Given the description of an element on the screen output the (x, y) to click on. 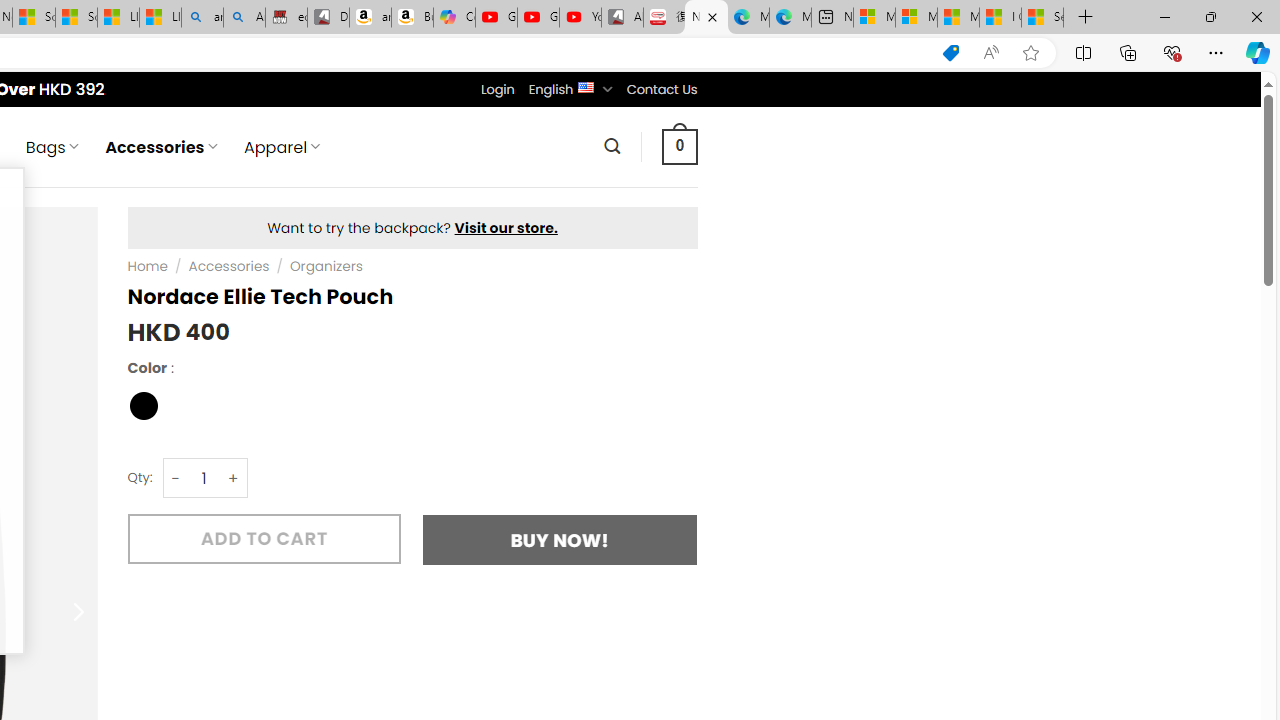
English (586, 86)
Copilot (453, 17)
New Tab (1085, 17)
Split screen (1083, 52)
Settings and more (Alt+F) (1215, 52)
Close tab (712, 16)
Gloom - YouTube (538, 17)
Amazon Echo Dot PNG - Search Images (244, 17)
Organizers (326, 267)
All Cubot phones (621, 17)
Search (612, 146)
amazon.in/dp/B0CX59H5W7/?tag=gsmcom05-21 (369, 17)
